Given the description of an element on the screen output the (x, y) to click on. 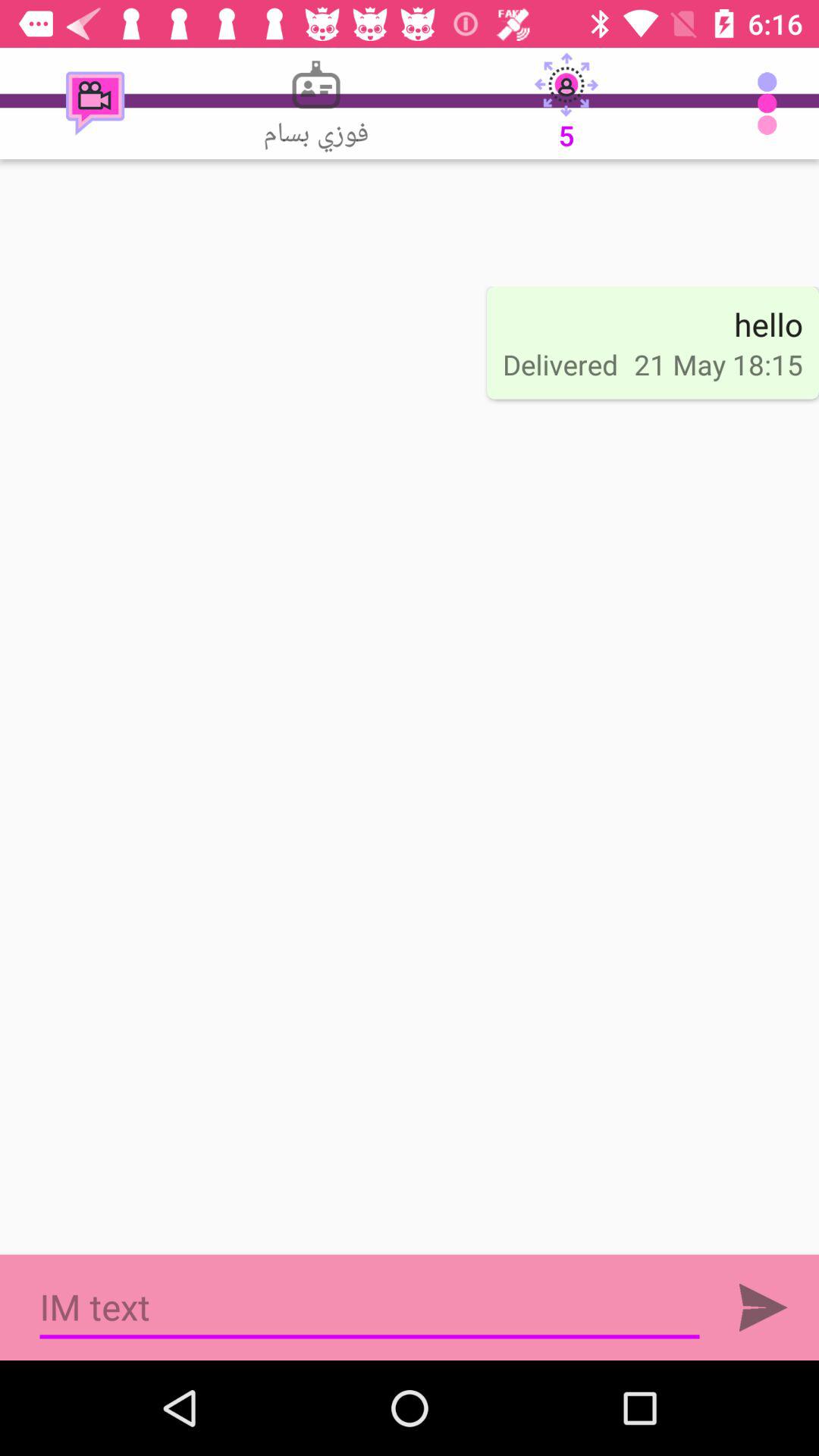
select the item below delivered (369, 1307)
